Given the description of an element on the screen output the (x, y) to click on. 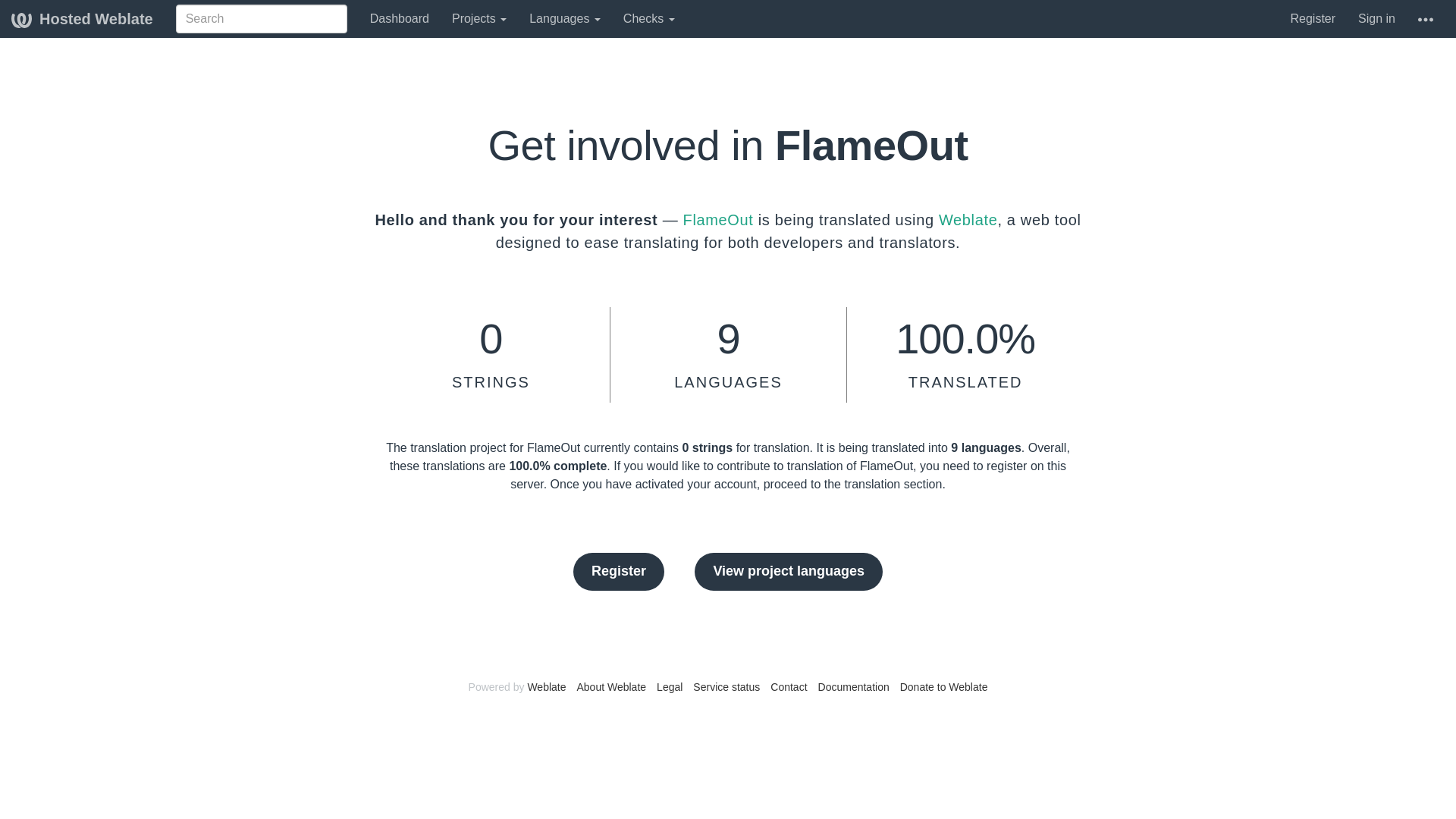
Documentation (853, 686)
Checks (648, 18)
Donate to Weblate (943, 686)
View project languages (788, 571)
Dashboard (399, 18)
Languages (564, 18)
Hosted Weblate (82, 18)
Contact (788, 686)
Register (618, 571)
Sign in (1376, 18)
